Given the description of an element on the screen output the (x, y) to click on. 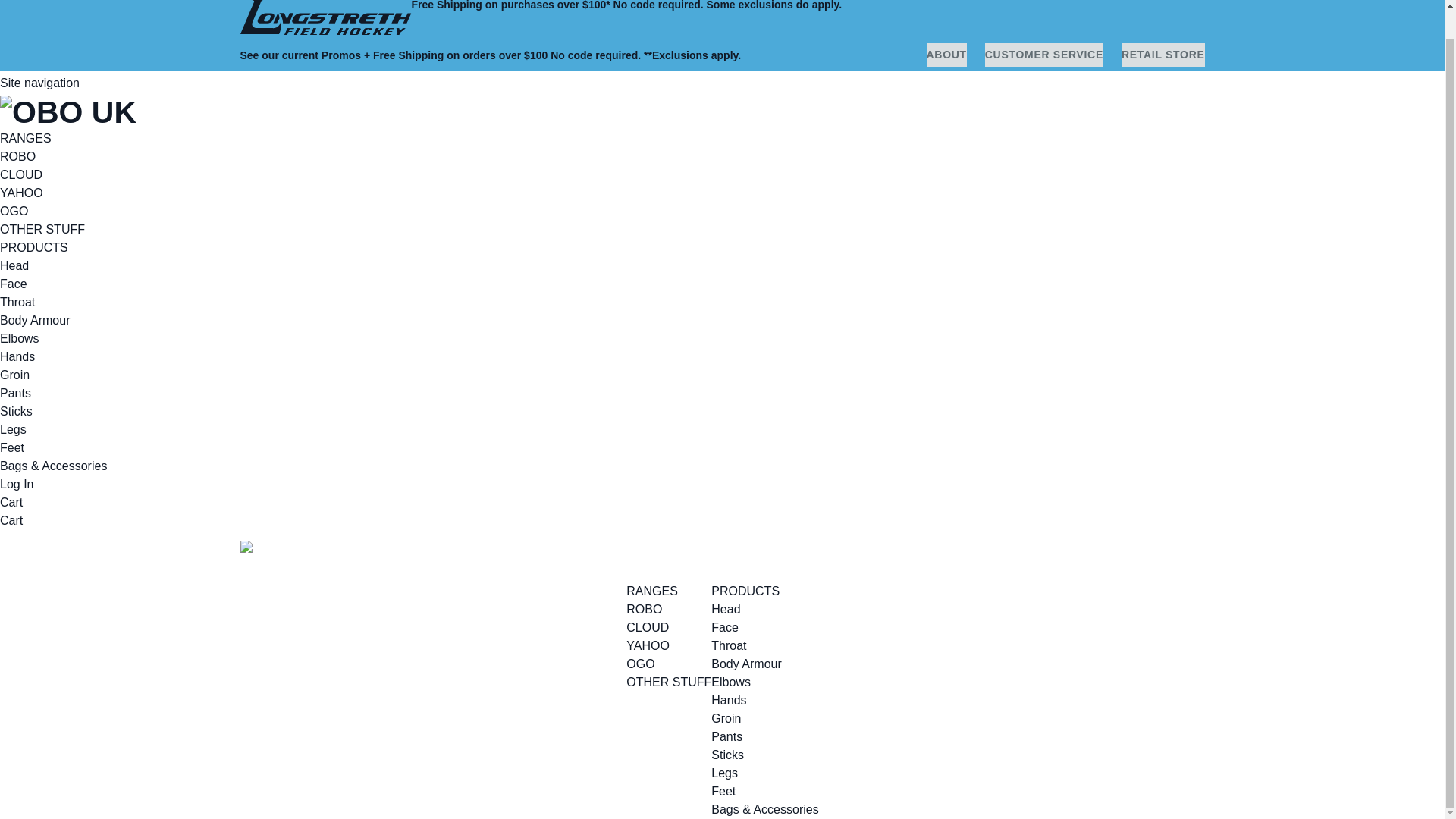
ABOUT (946, 55)
See our current Promos (300, 55)
Back to   (325, 19)
RETAIL STORE (1163, 55)
CUSTOMER SERVICE (1044, 55)
